Given the description of an element on the screen output the (x, y) to click on. 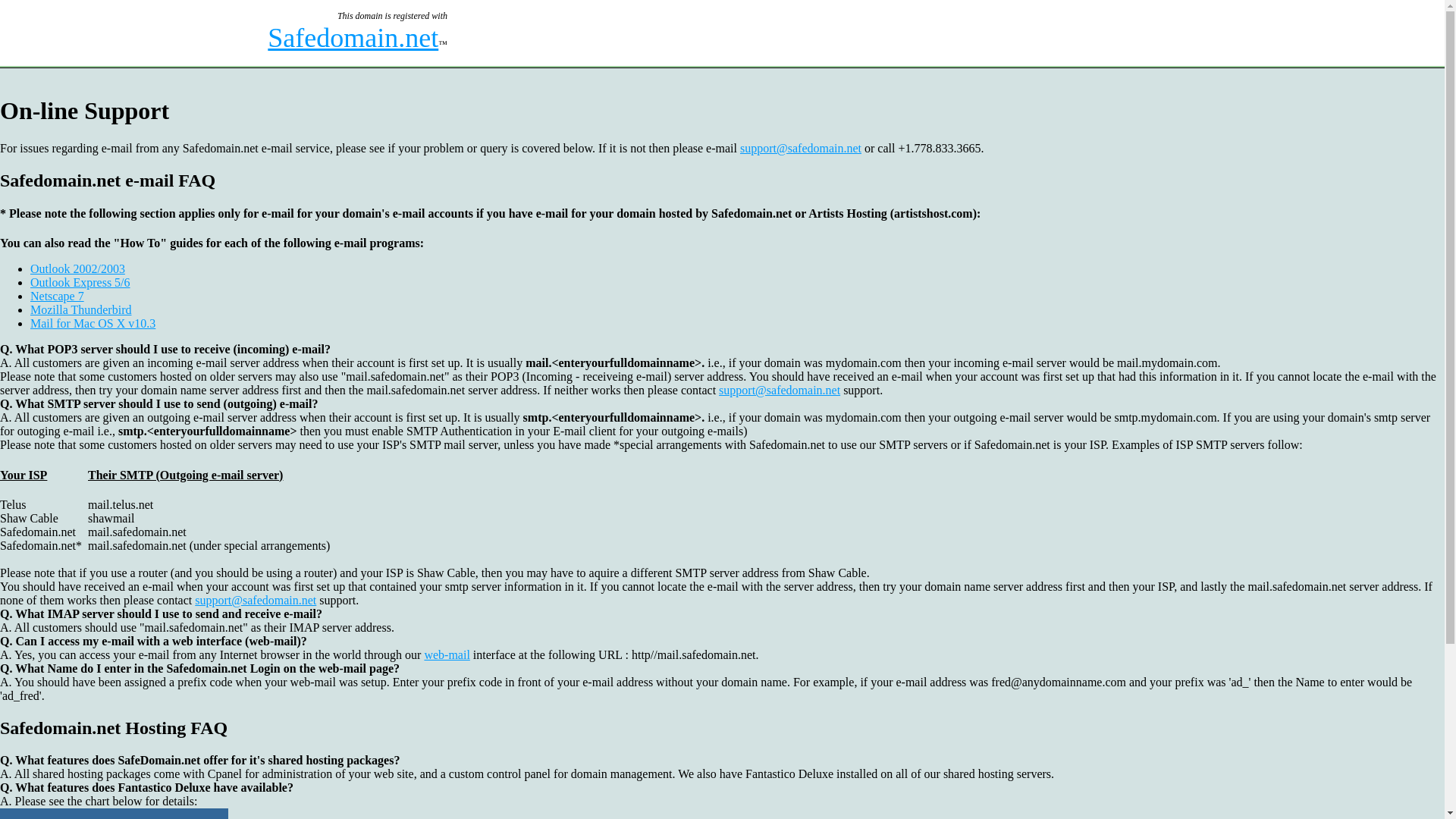
Safedomain.net (352, 37)
web-mail (445, 654)
Netscape 7 (57, 295)
Mozilla Thunderbird (80, 309)
Mail for Mac OS X v10.3 (92, 323)
